Given the description of an element on the screen output the (x, y) to click on. 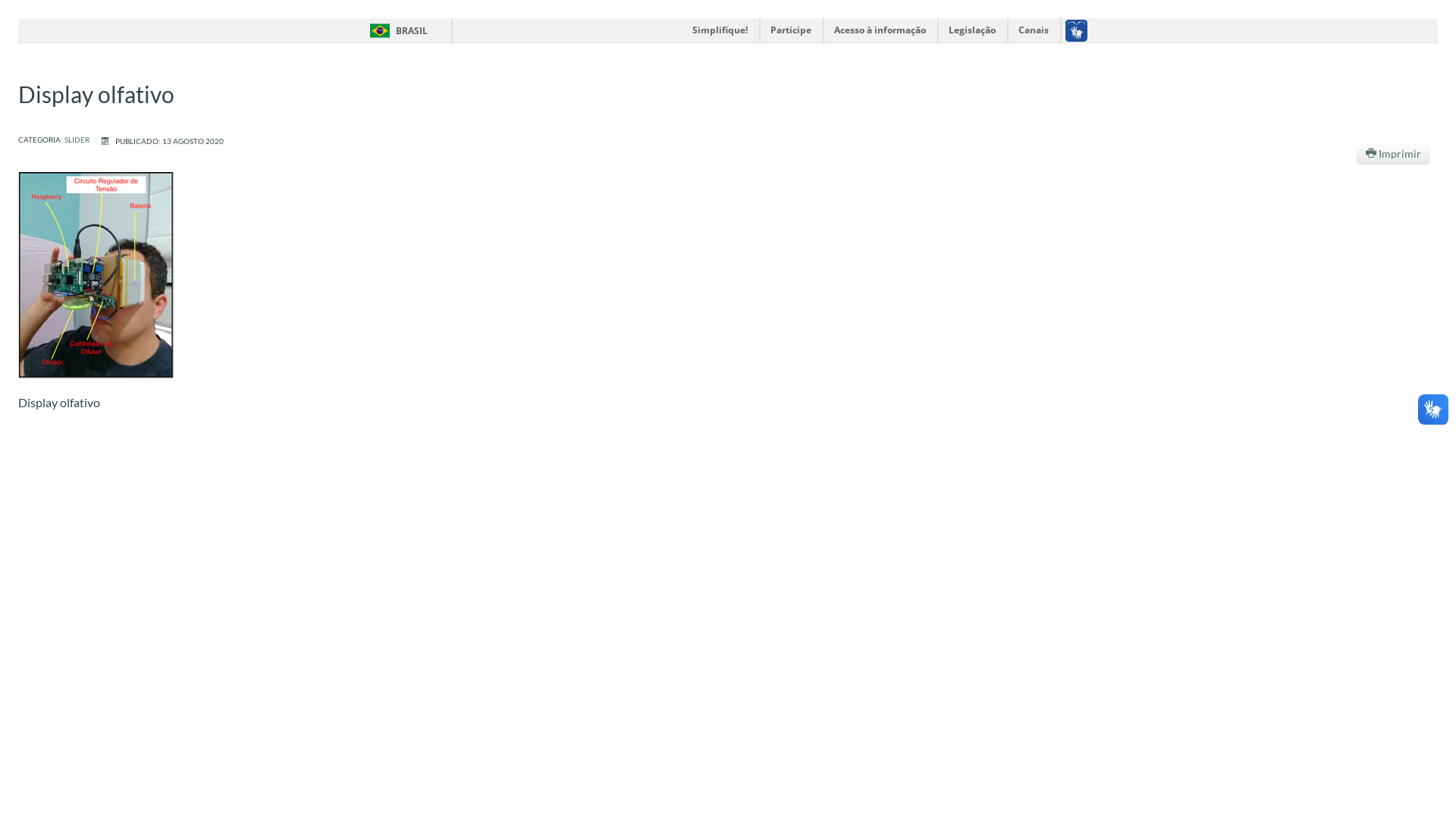
Participe Element type: text (791, 29)
Canais Element type: text (1034, 29)
Imprimir Element type: text (1393, 153)
SLIDER Element type: text (76, 140)
BRASIL Element type: text (396, 30)
Simplifique! Element type: text (720, 29)
